Given the description of an element on the screen output the (x, y) to click on. 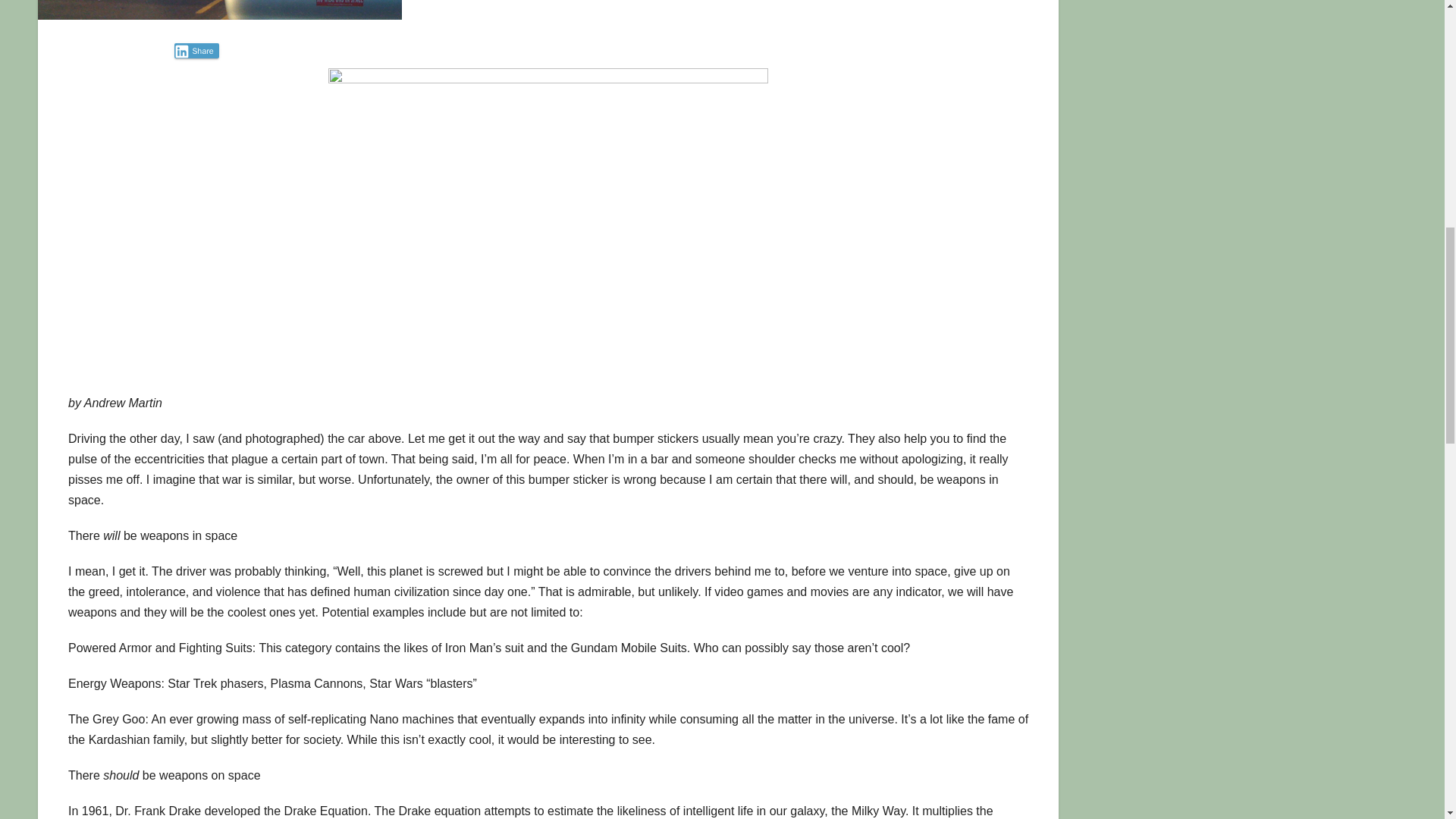
Share (196, 50)
noweaponsinspace (548, 219)
